Given the description of an element on the screen output the (x, y) to click on. 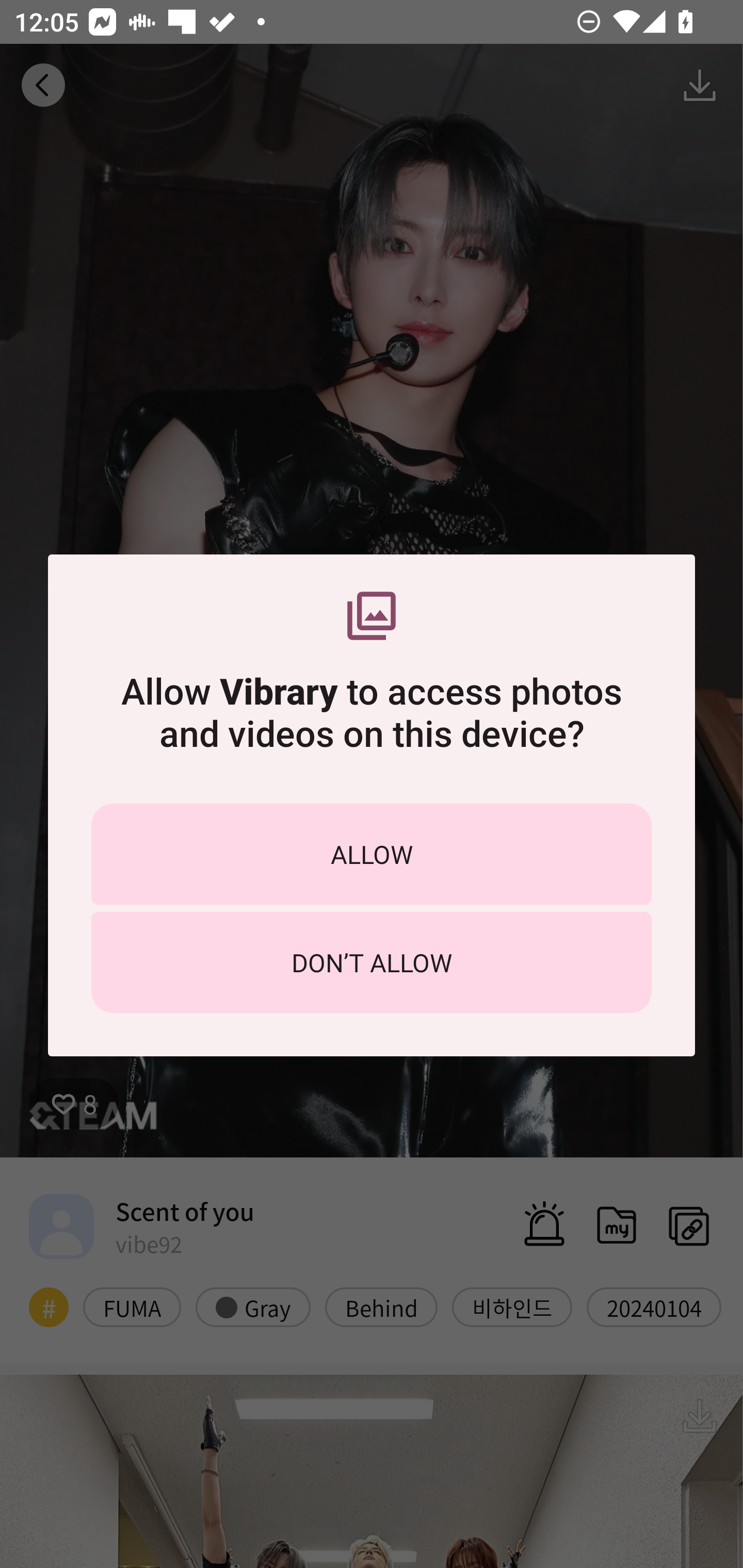
ALLOW (371, 853)
DON’T ALLOW (371, 962)
